Given the description of an element on the screen output the (x, y) to click on. 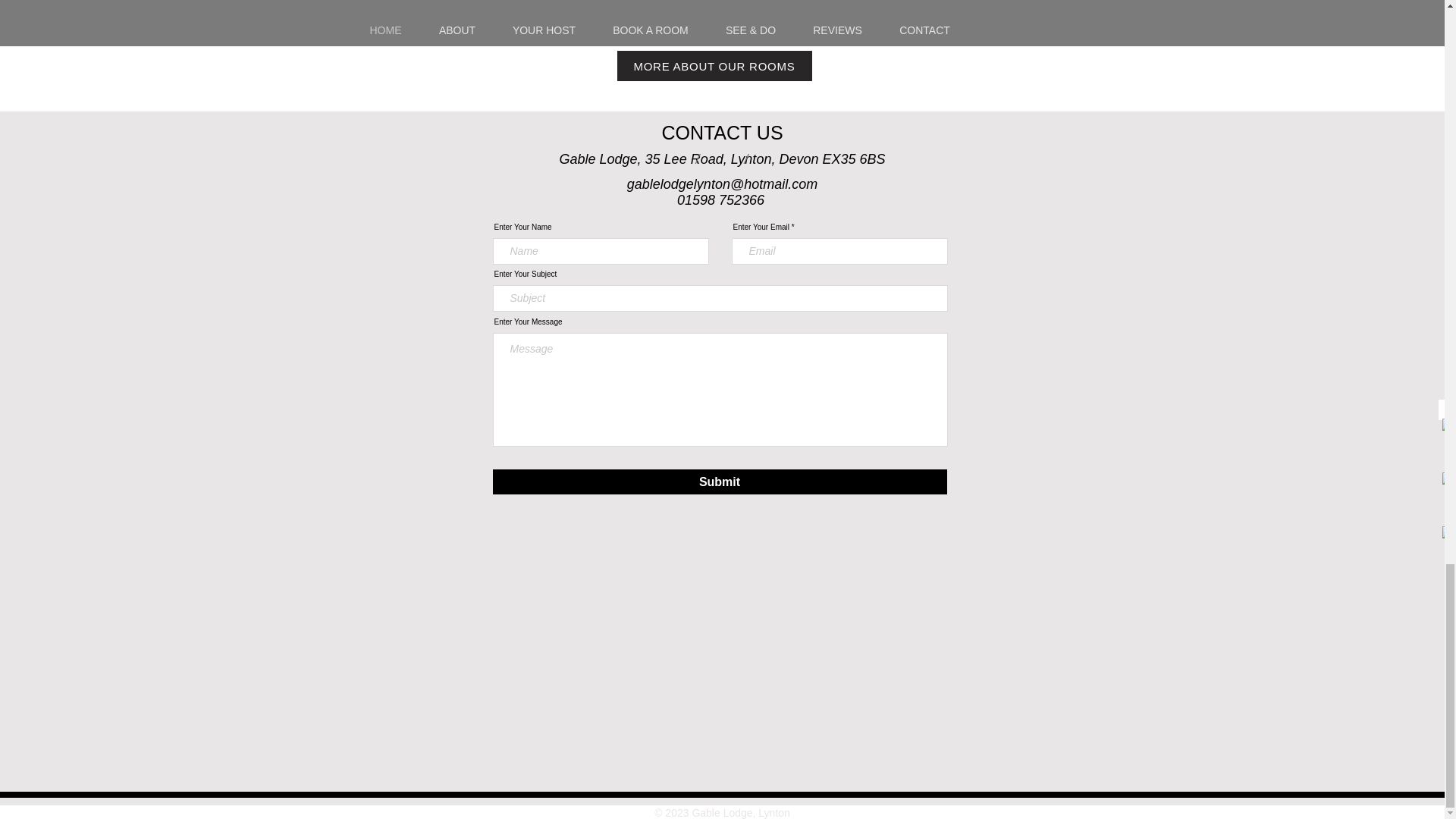
Submit (720, 481)
MORE ABOUT OUR ROOMS (714, 65)
